Given the description of an element on the screen output the (x, y) to click on. 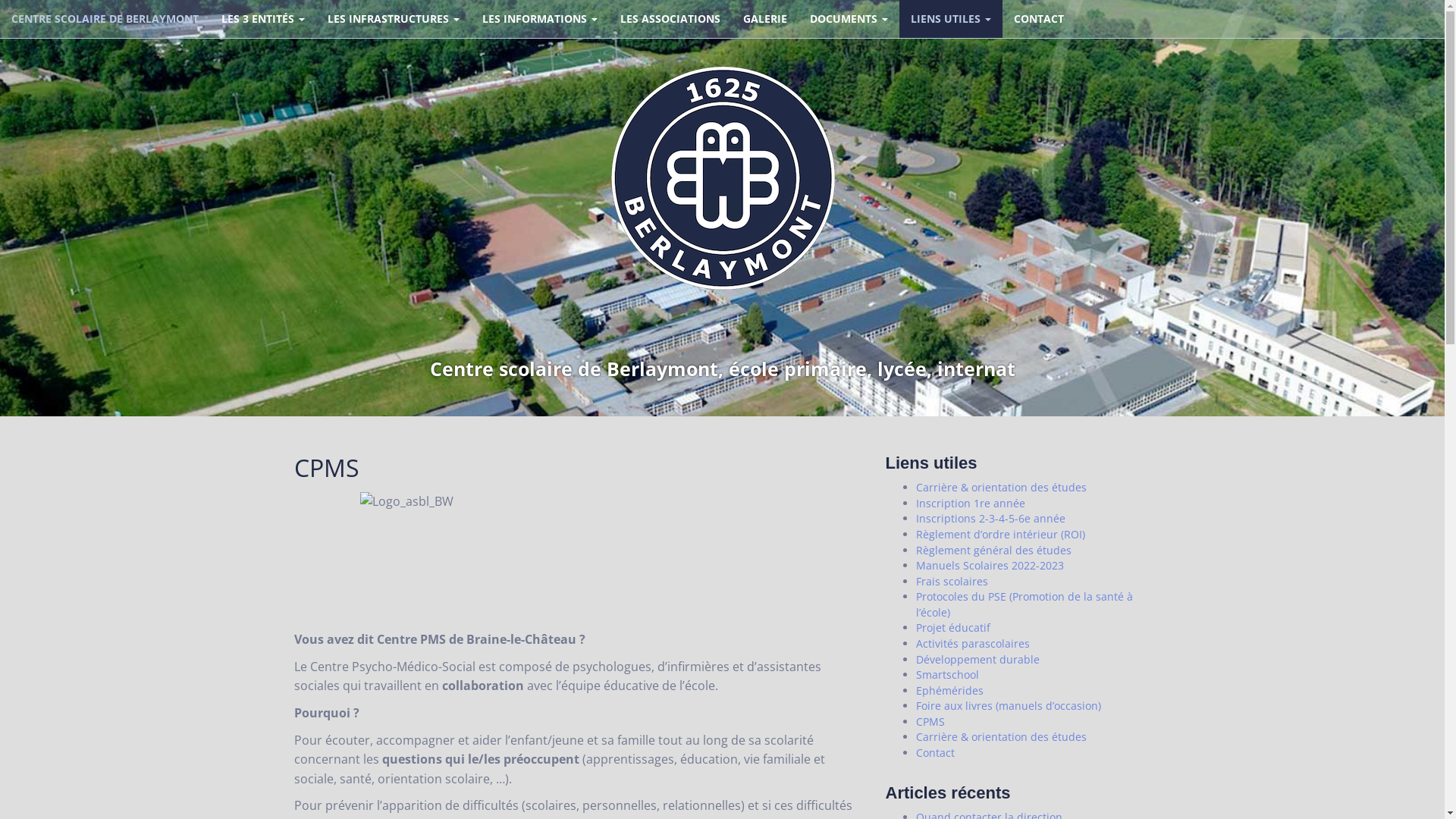
LES ASSOCIATIONS Element type: text (669, 18)
CENTRE SCOLAIRE DE BERLAYMONT Element type: text (105, 18)
Frais scolaires Element type: text (952, 581)
Contact Element type: text (935, 752)
Smartschool Element type: text (947, 674)
CONTACT Element type: text (1038, 18)
GALERIE Element type: text (764, 18)
Manuels Scolaires 2022-2023 Element type: text (989, 565)
DOCUMENTS Element type: text (848, 18)
CPMS Element type: text (930, 721)
LES INFRASTRUCTURES Element type: text (393, 18)
LIENS UTILES Element type: text (950, 18)
Centre scolaire de Berlaymont Element type: hover (722, 177)
LES INFORMATIONS Element type: text (539, 18)
